Given the description of an element on the screen output the (x, y) to click on. 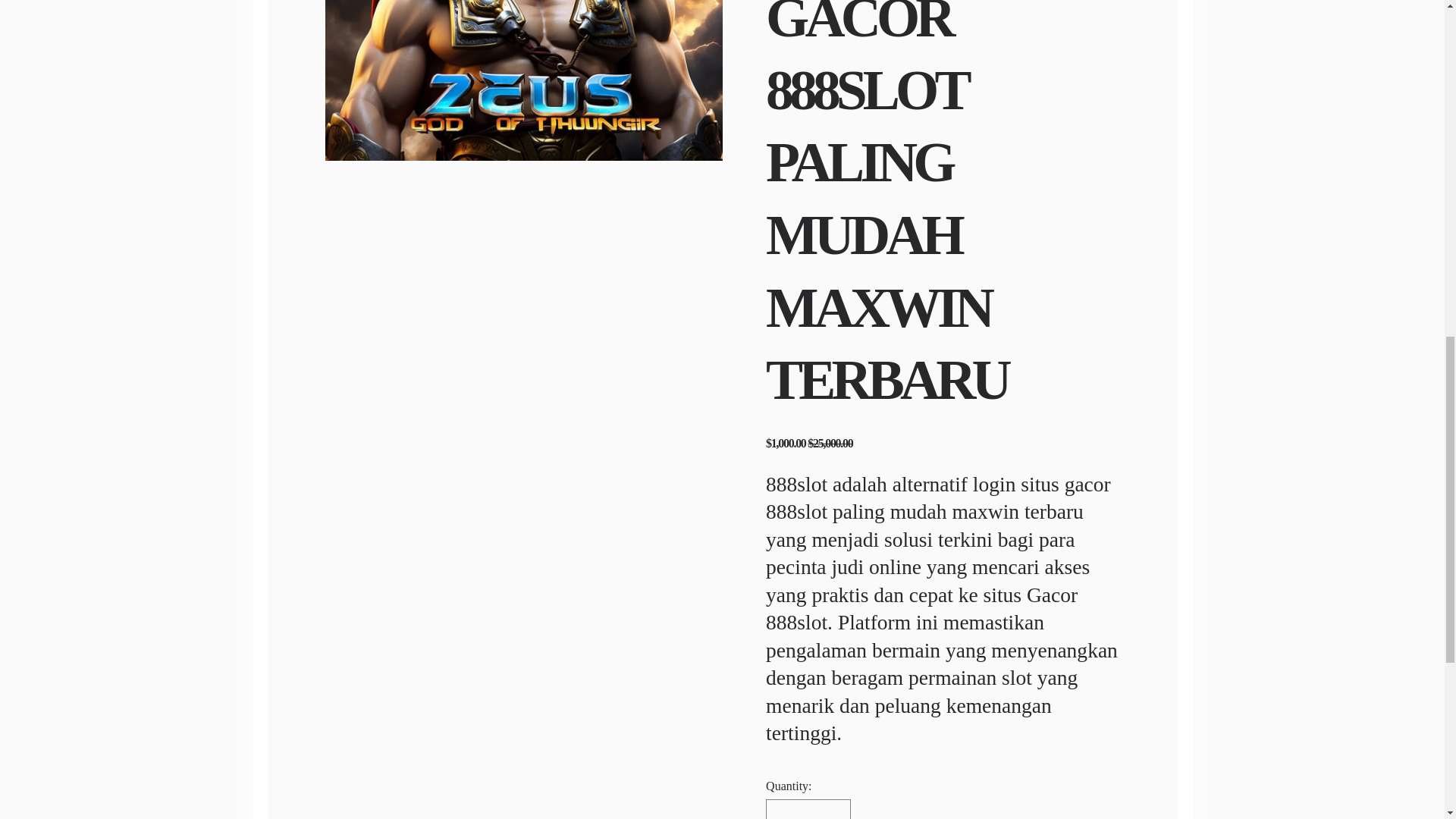
1 (807, 809)
